Given the description of an element on the screen output the (x, y) to click on. 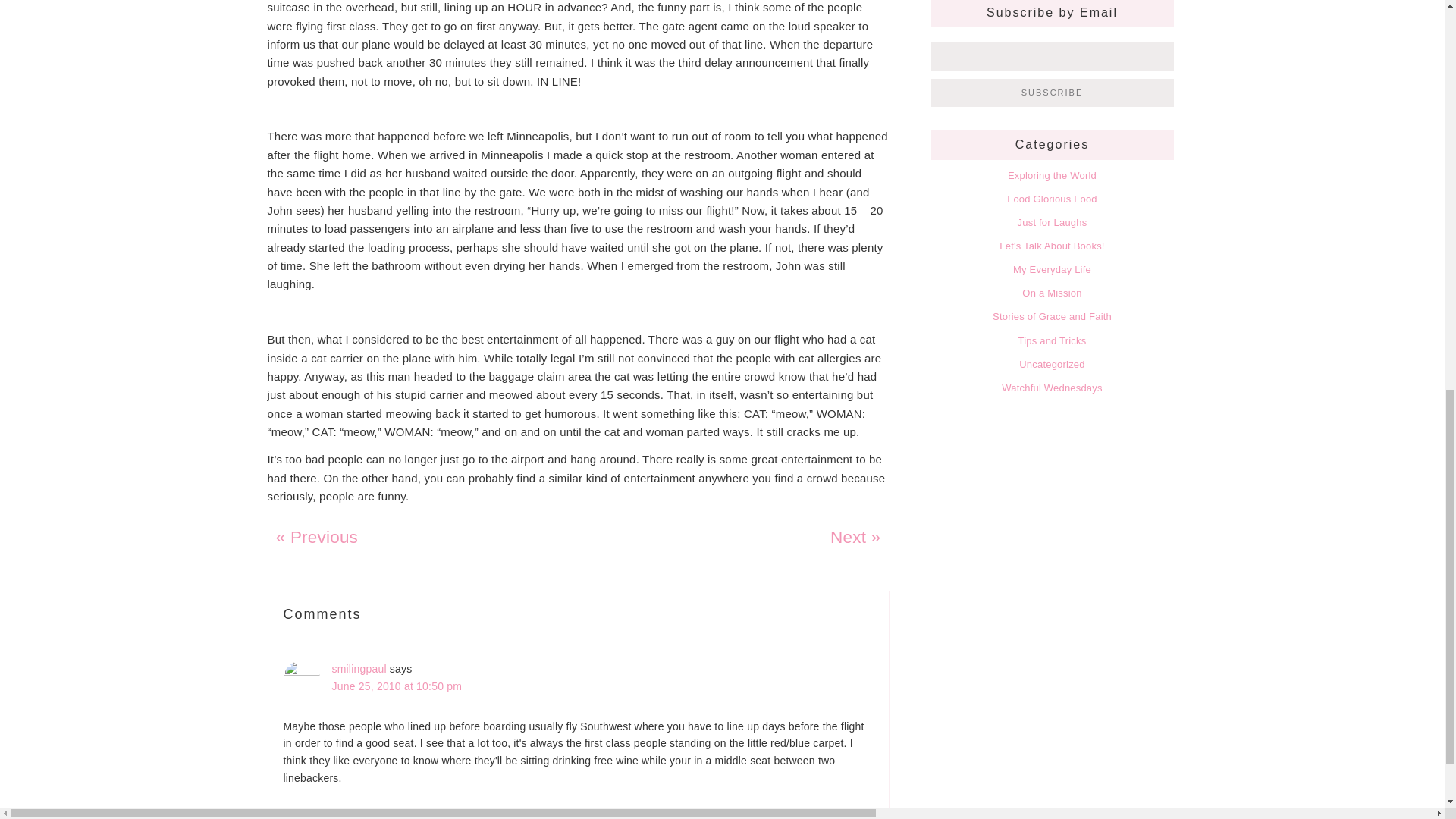
Subscribe (1052, 92)
Let's Talk About Books! (1050, 245)
June 25, 2010 at 10:50 pm (397, 686)
smilingpaul (359, 668)
My Everyday Life (1051, 269)
On a Mission (1051, 292)
Exploring the World (1051, 174)
Food Glorious Food (1052, 198)
Just for Laughs (1052, 222)
Subscribe (1052, 92)
Uncategorized (1051, 364)
Watchful Wednesdays (1051, 387)
Tips and Tricks (1051, 340)
Stories of Grace and Faith (1052, 316)
